Given the description of an element on the screen output the (x, y) to click on. 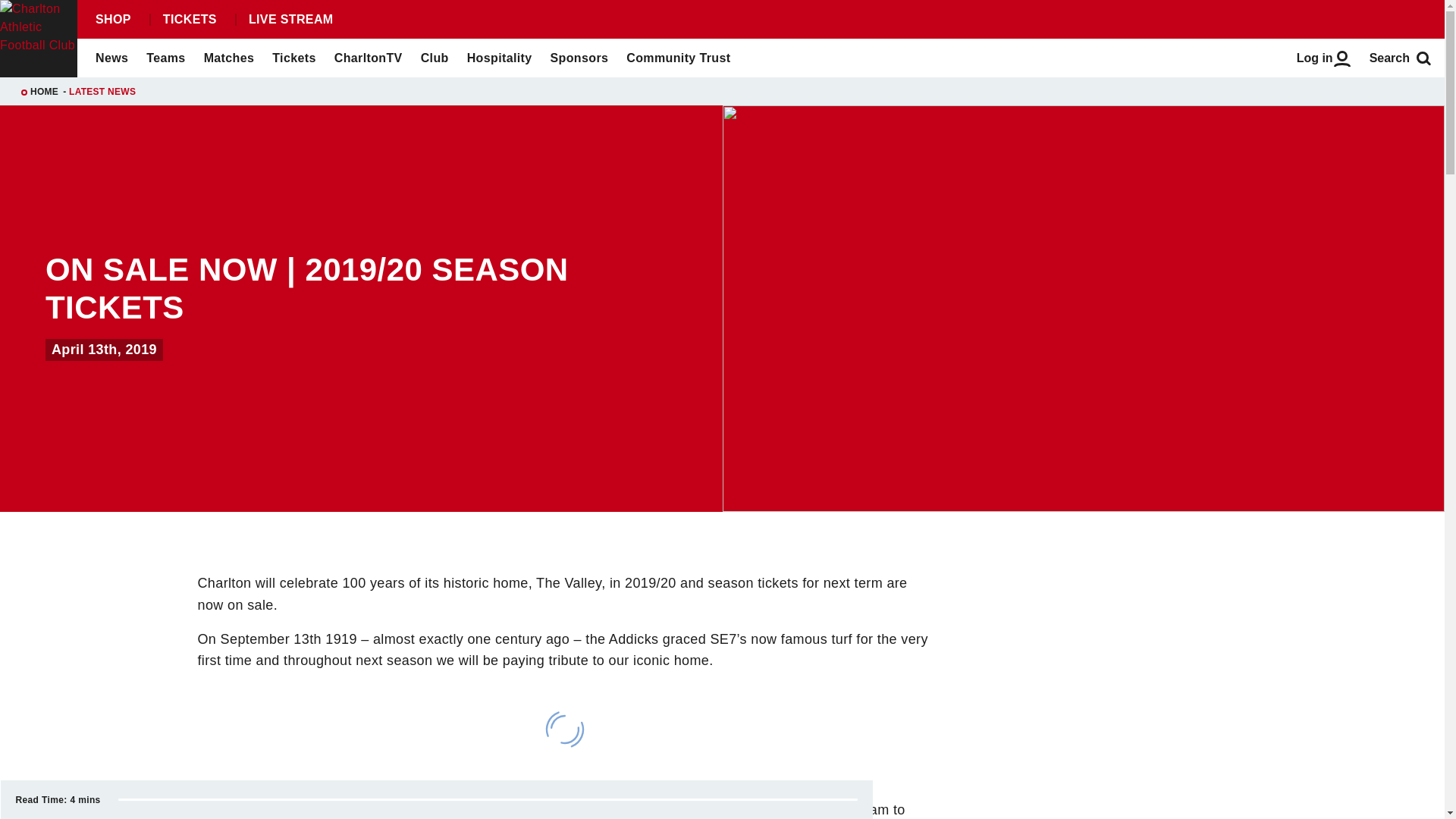
TICKETS (188, 19)
Matches (228, 57)
LIVE STREAM (290, 19)
SHOP (112, 19)
Teams (165, 57)
Teams (165, 57)
